Given the description of an element on the screen output the (x, y) to click on. 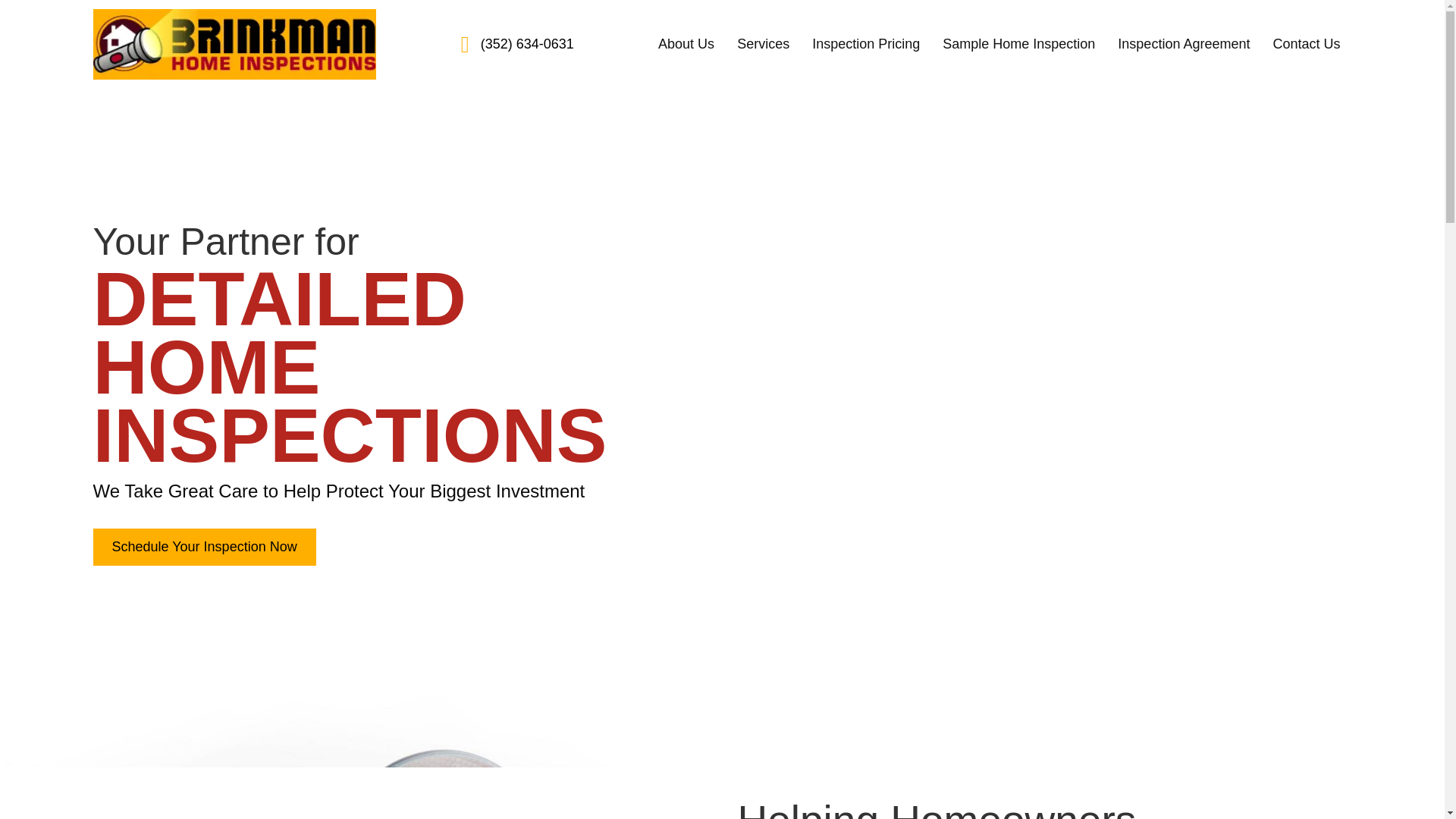
About Us (685, 43)
Inspection Agreement (1183, 43)
Services (762, 43)
Schedule Your Inspection Now (204, 546)
Contact Us (1305, 43)
Sample Home Inspection (1018, 43)
Inspection Pricing (865, 43)
